Given the description of an element on the screen output the (x, y) to click on. 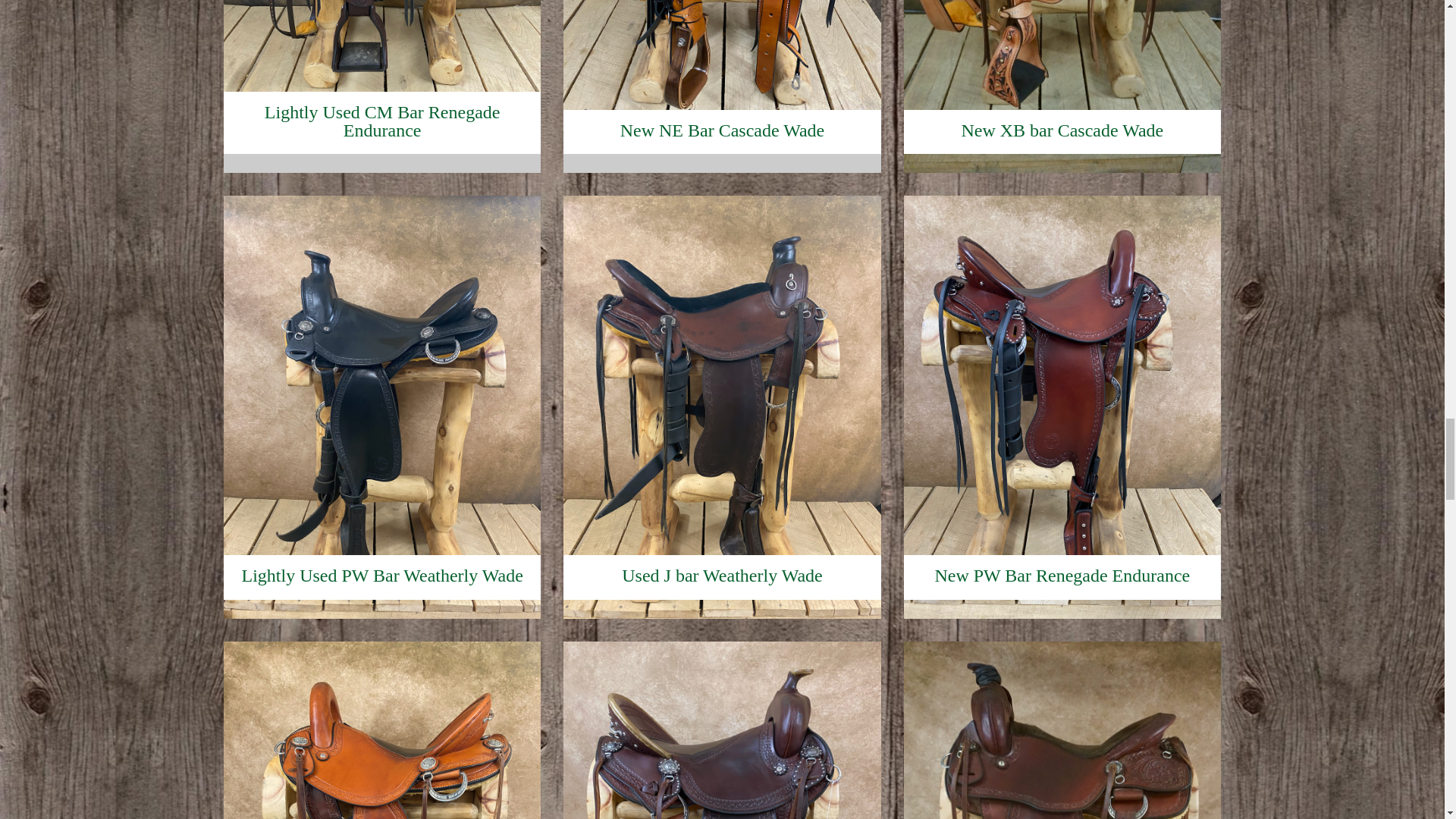
Lightly Used CM Bar Renegade Endurance (382, 109)
New NE Bar Cascade Wade (721, 109)
